Given the description of an element on the screen output the (x, y) to click on. 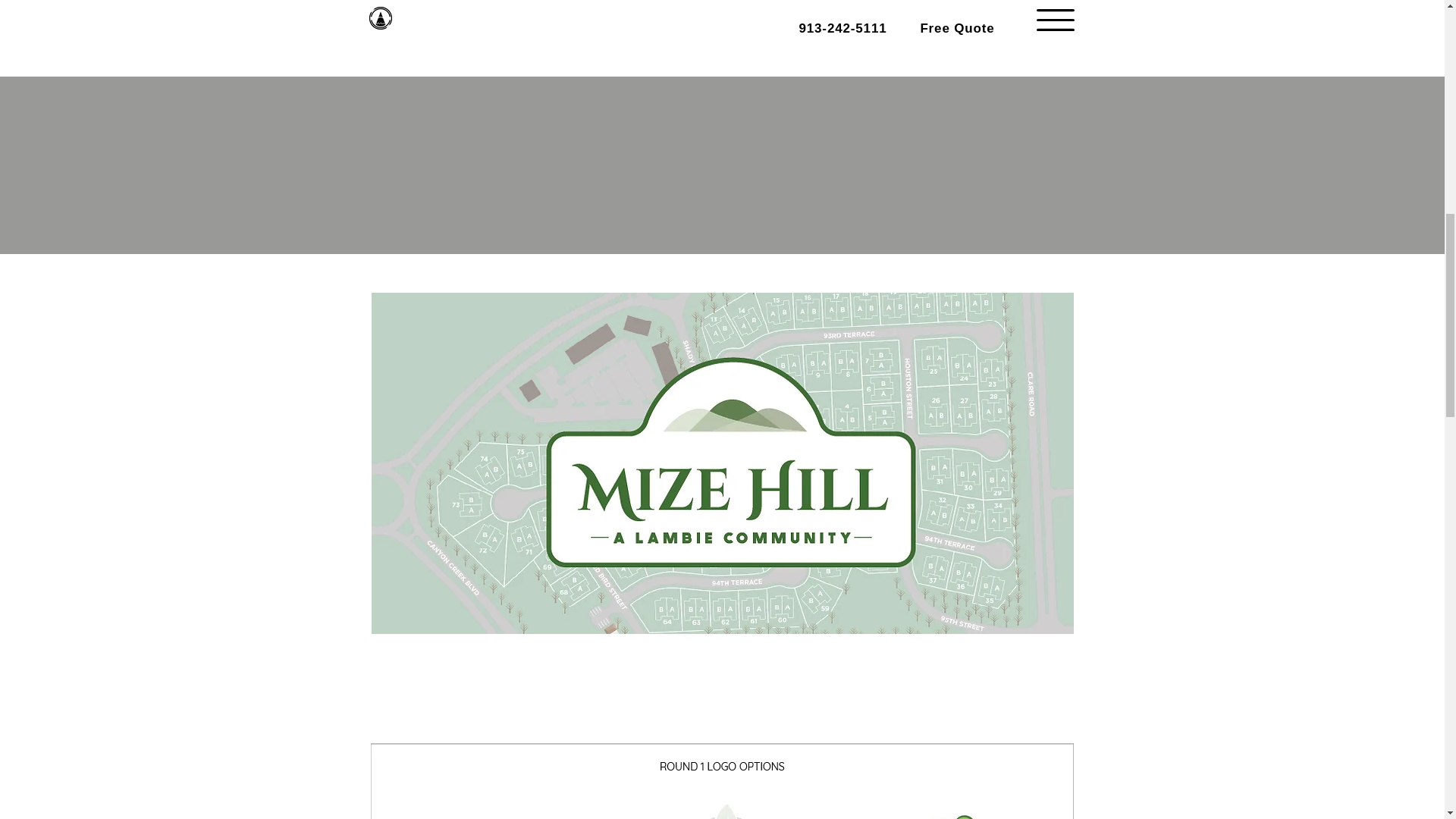
New Trails-Pattern.jpg (721, 780)
